Given the description of an element on the screen output the (x, y) to click on. 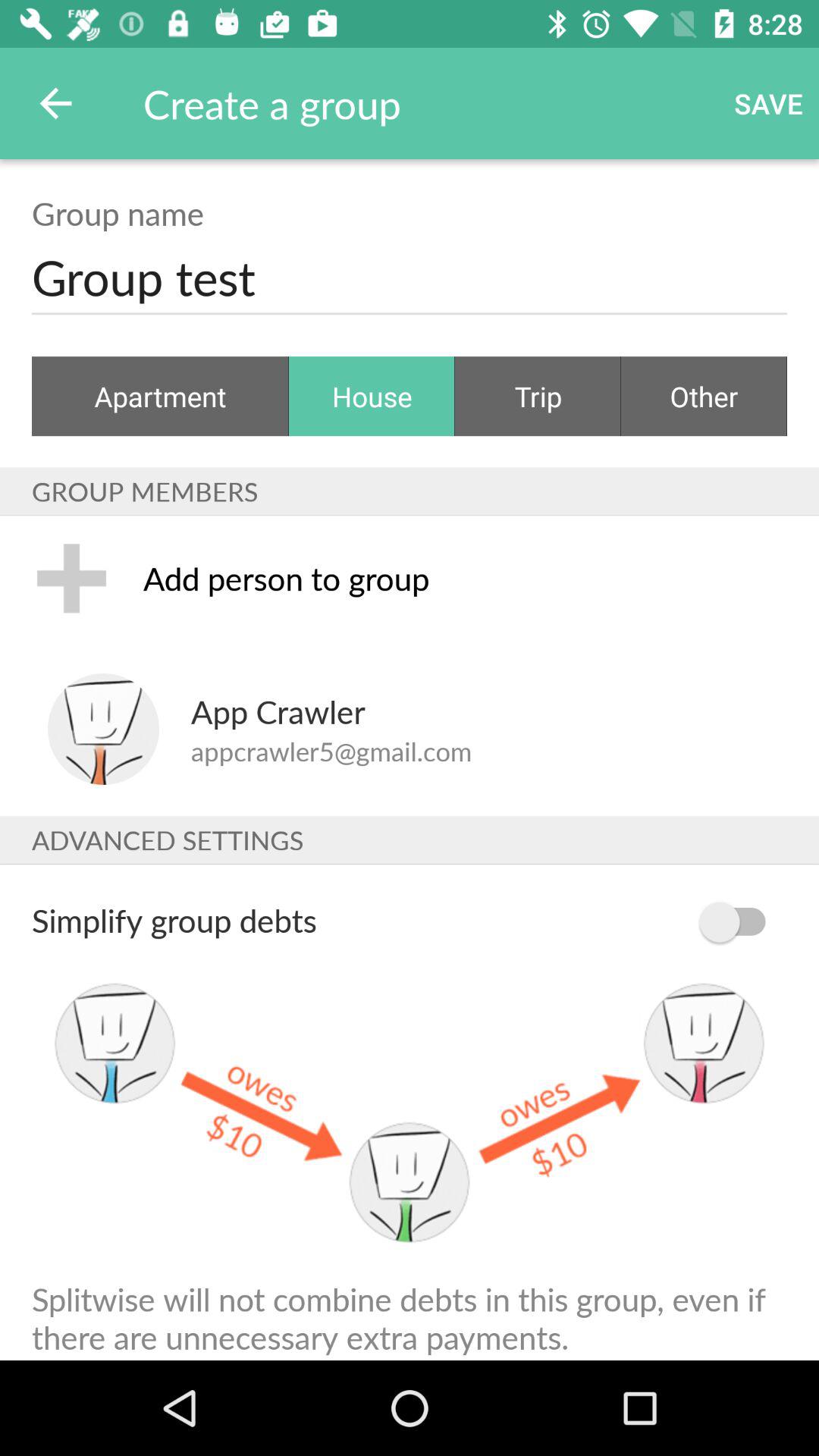
swipe to the group test  item (409, 282)
